Given the description of an element on the screen output the (x, y) to click on. 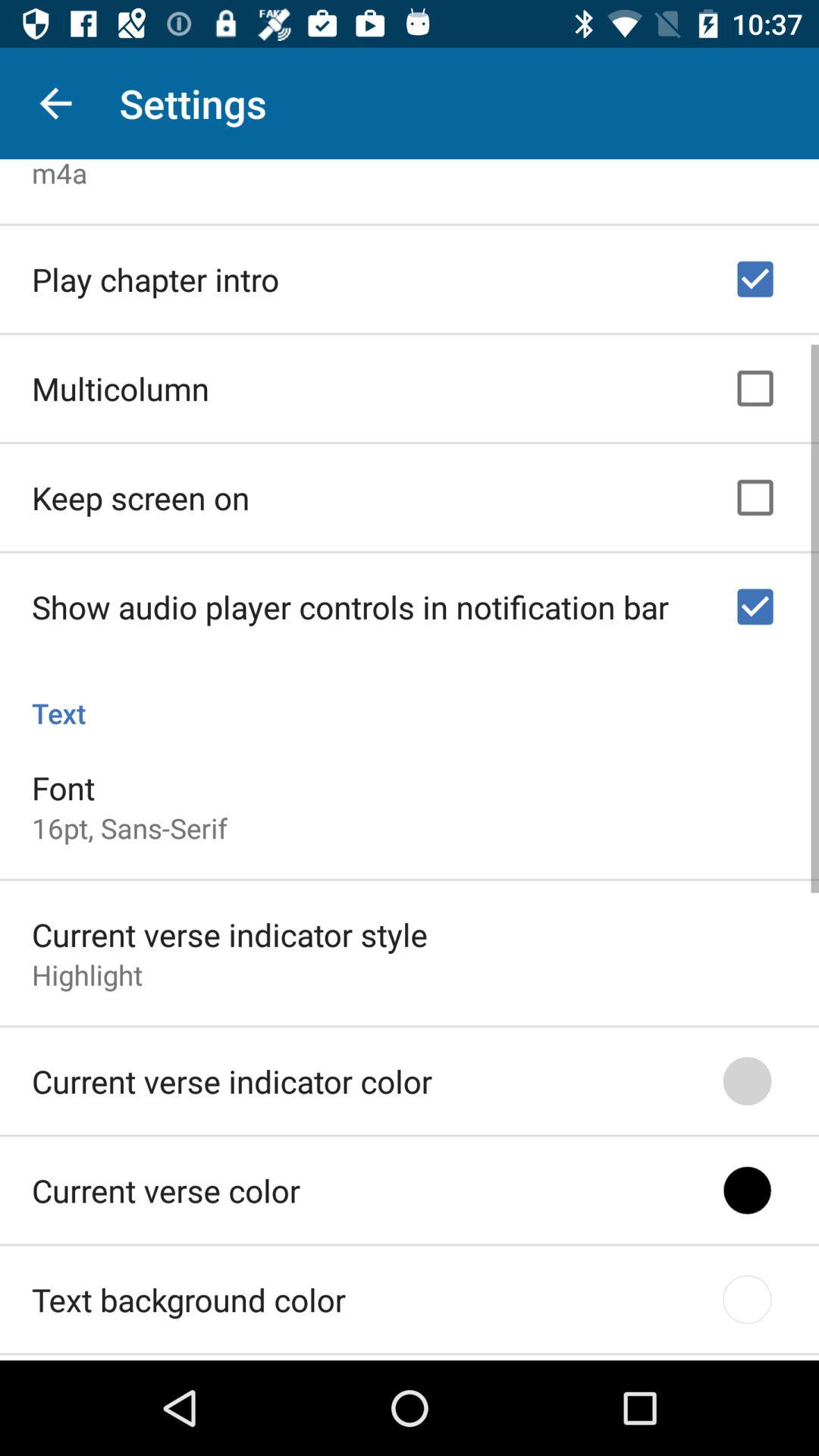
turn on item above 16pt, sans-serif item (62, 782)
